Given the description of an element on the screen output the (x, y) to click on. 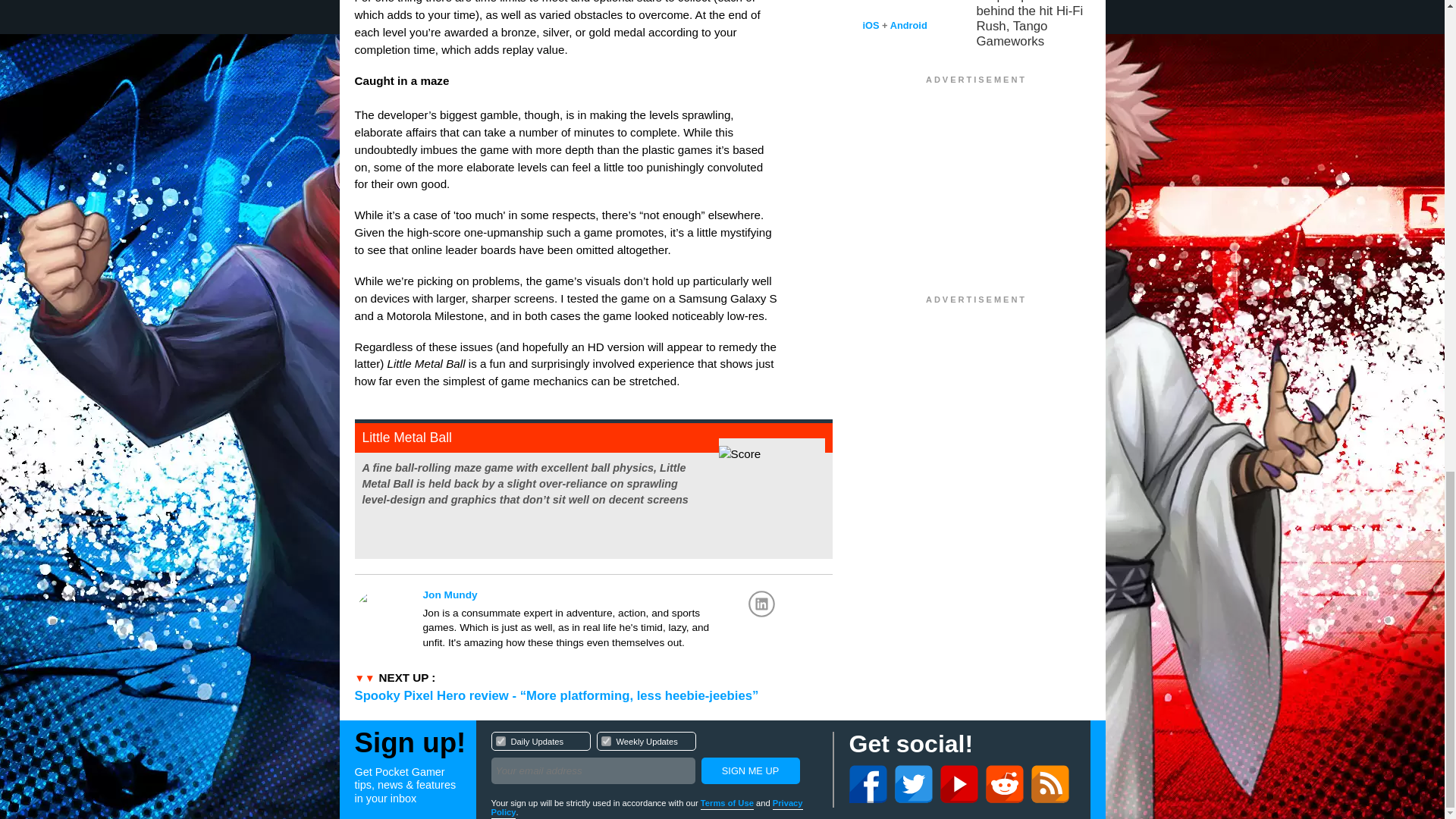
2 (604, 741)
Jon Mundy (600, 594)
Sign Me Up (749, 770)
1 (500, 741)
